Given the description of an element on the screen output the (x, y) to click on. 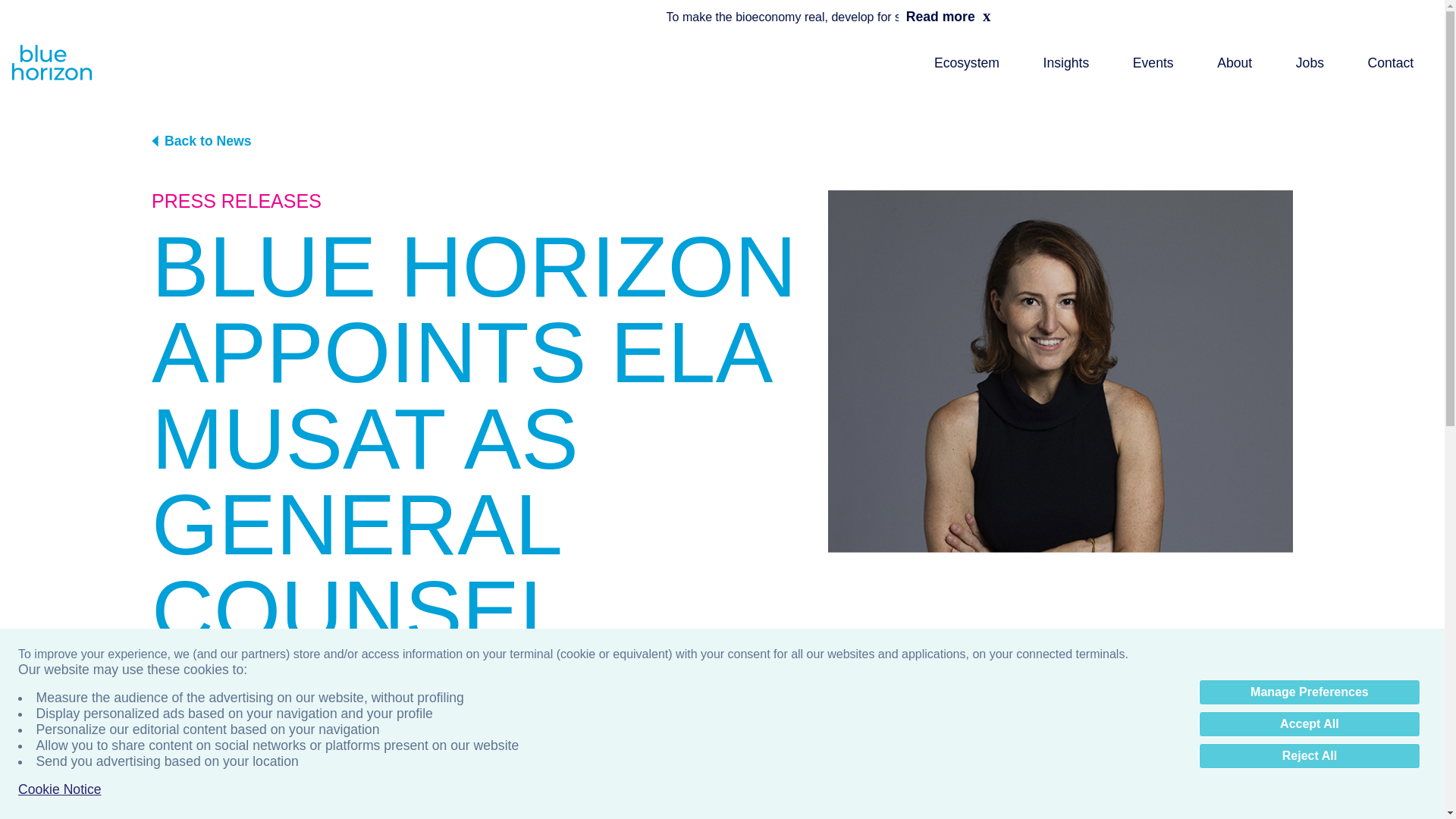
Read more (940, 17)
About (1234, 62)
Reject All (1309, 755)
Back to News (721, 140)
Cookie Notice (59, 789)
Insights (1066, 62)
Jobs (1309, 62)
Manage Preferences (1309, 692)
Ecosystem (967, 62)
Events (1152, 62)
